Given the description of an element on the screen output the (x, y) to click on. 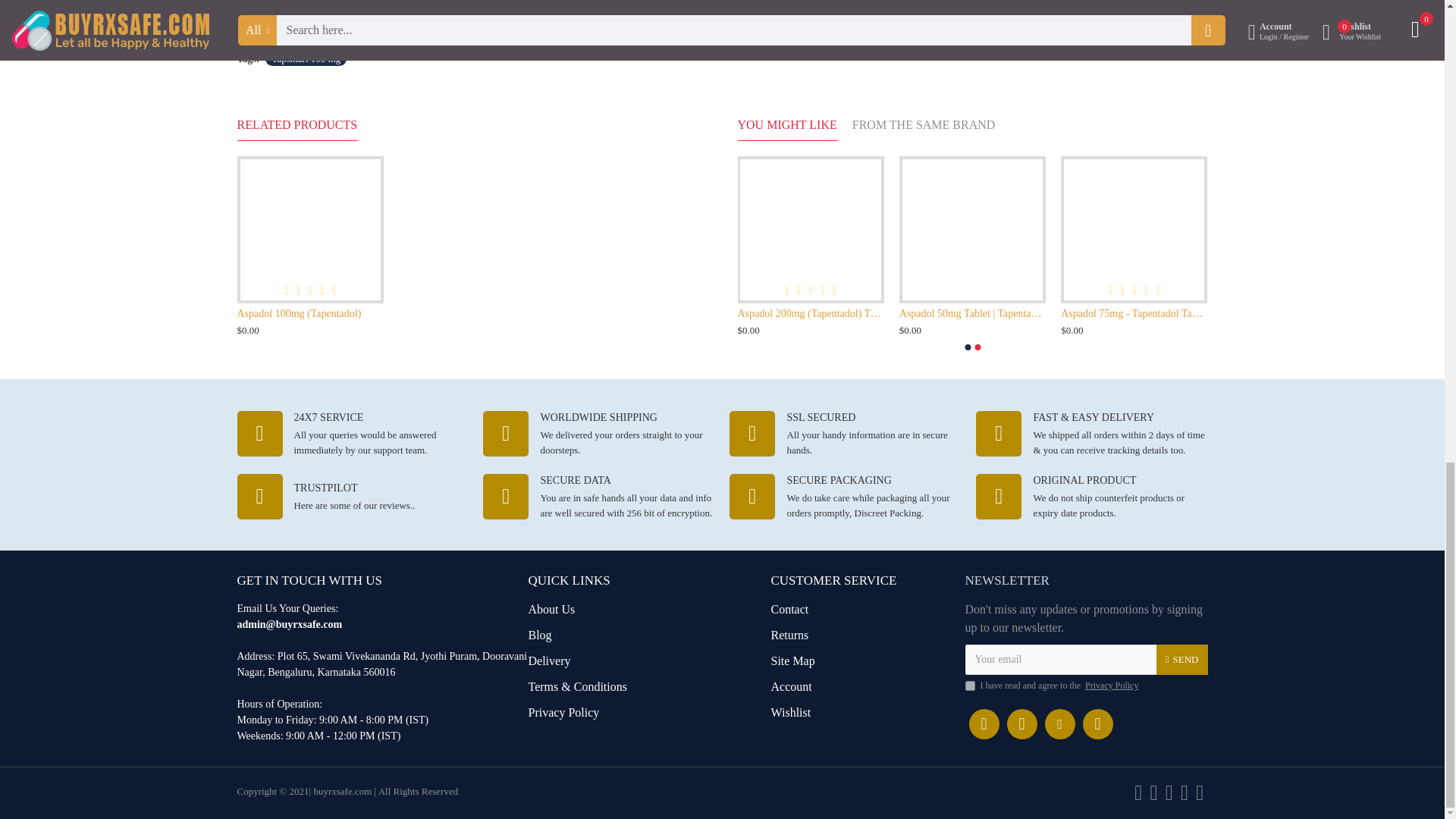
1 (968, 685)
